Given the description of an element on the screen output the (x, y) to click on. 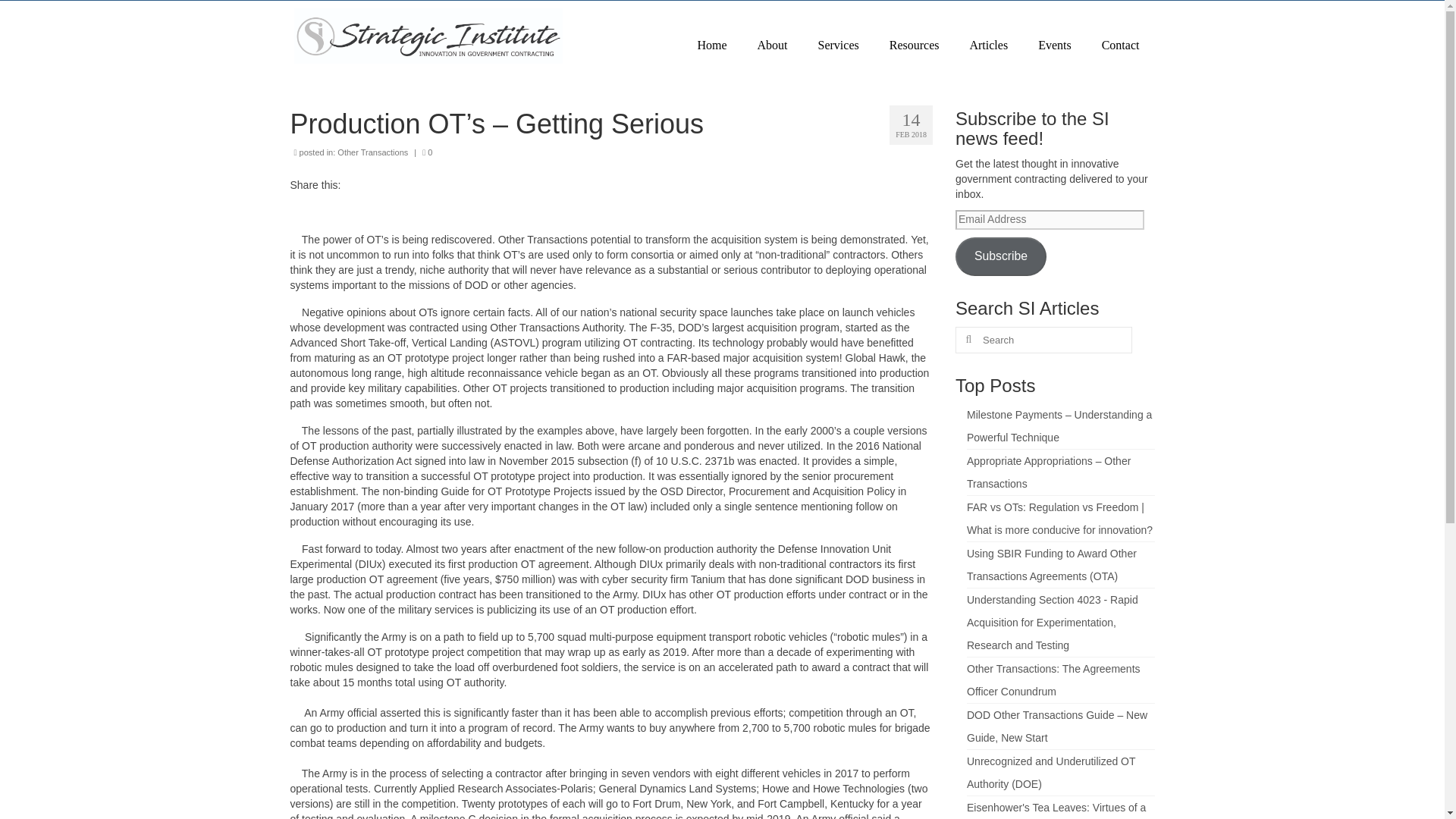
Services (839, 45)
About (772, 45)
Subscribe (1000, 256)
Other Transactions: The Agreements Officer Conundrum (1053, 679)
Other Transactions (372, 152)
Events (1054, 45)
Articles (988, 45)
Resources (915, 45)
Home (711, 45)
Contact (1120, 45)
